Given the description of an element on the screen output the (x, y) to click on. 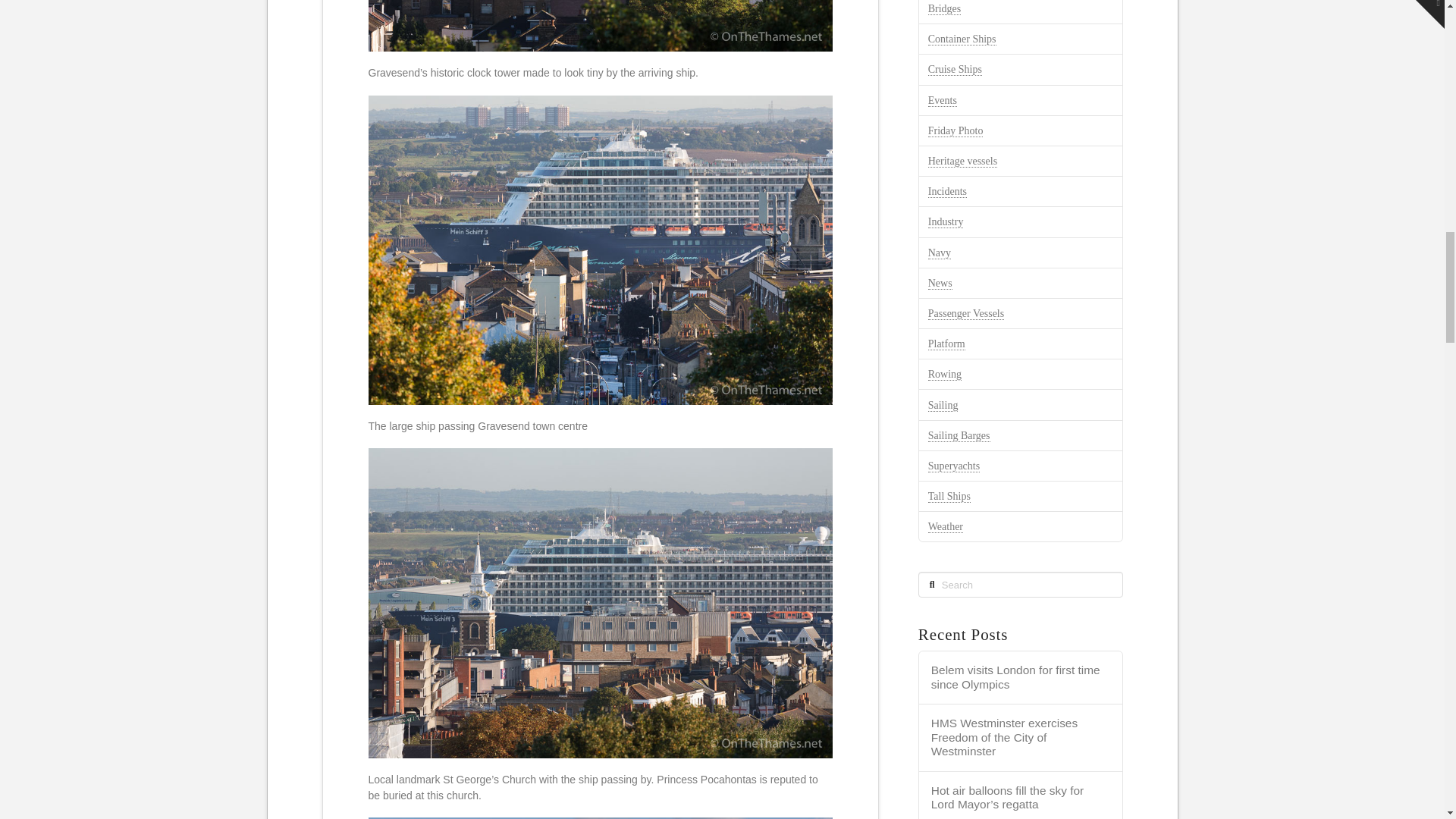
Cruise Ships (954, 69)
Container Ships (961, 39)
Bridges (944, 9)
